Given the description of an element on the screen output the (x, y) to click on. 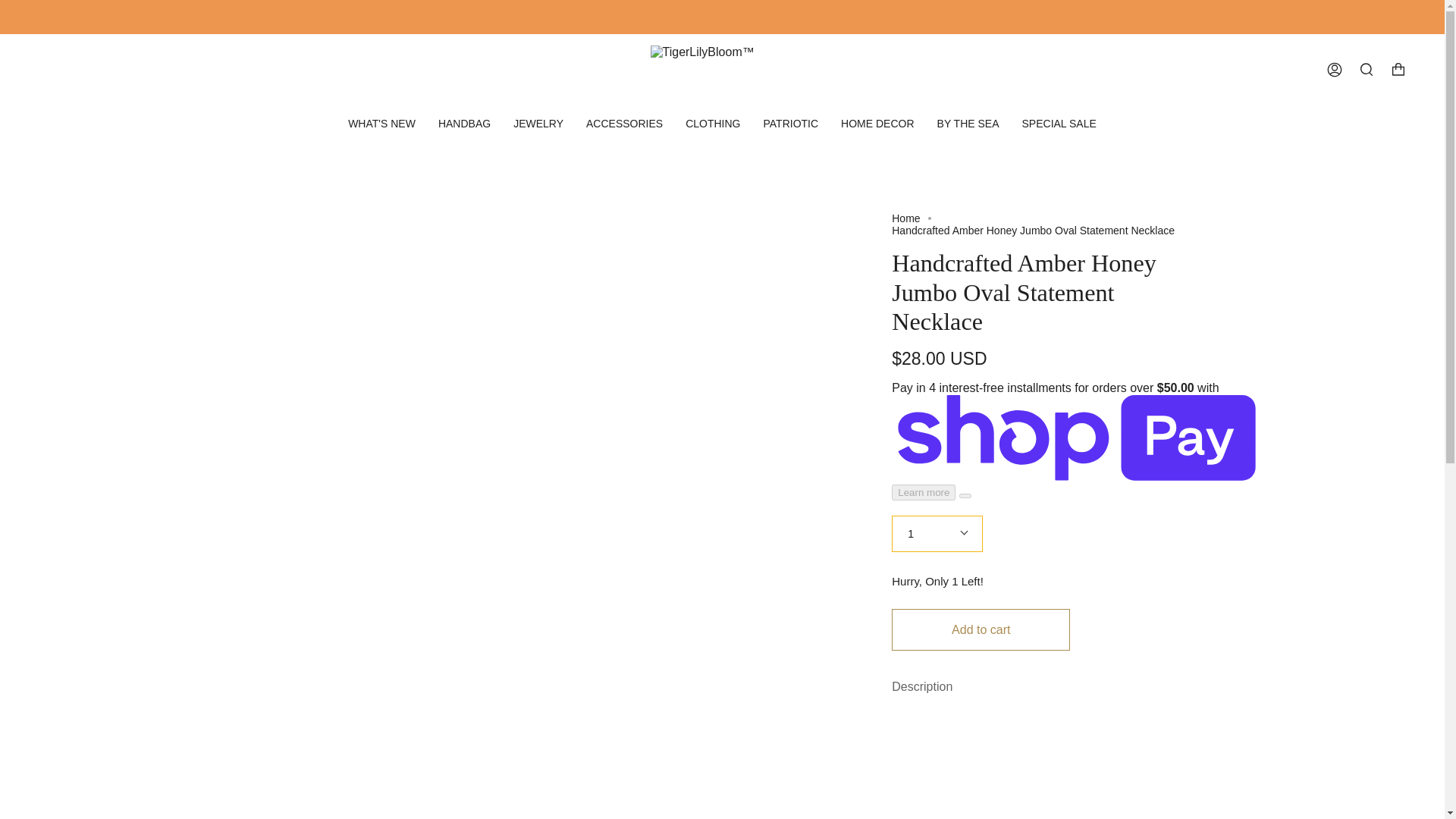
JEWELRY (538, 123)
HANDBAG (464, 123)
WHAT'S NEW (381, 123)
